Given the description of an element on the screen output the (x, y) to click on. 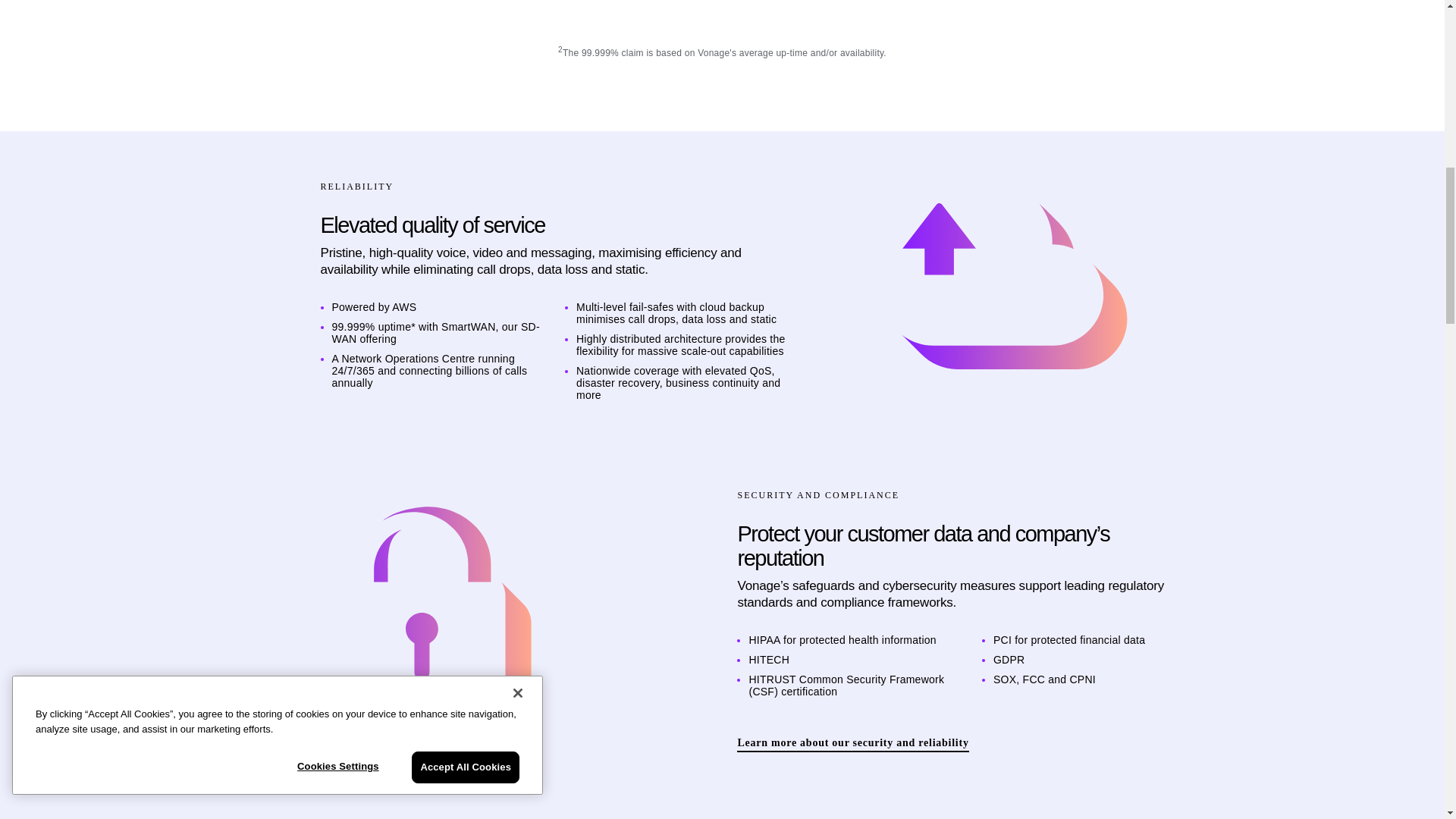
Security (430, 619)
Move to the Cloud (1014, 290)
